Given the description of an element on the screen output the (x, y) to click on. 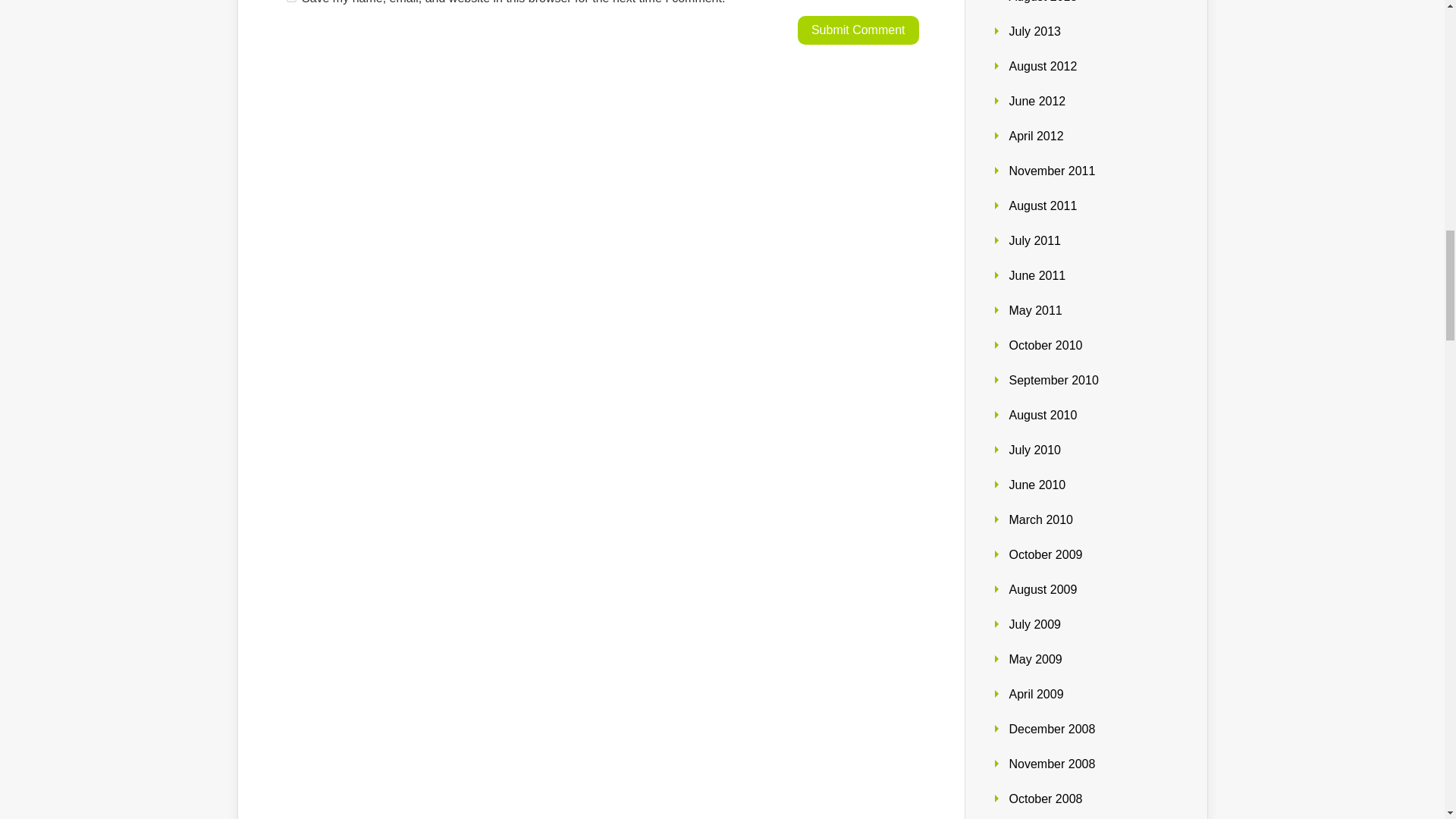
Submit Comment (857, 30)
Submit Comment (857, 30)
